Given the description of an element on the screen output the (x, y) to click on. 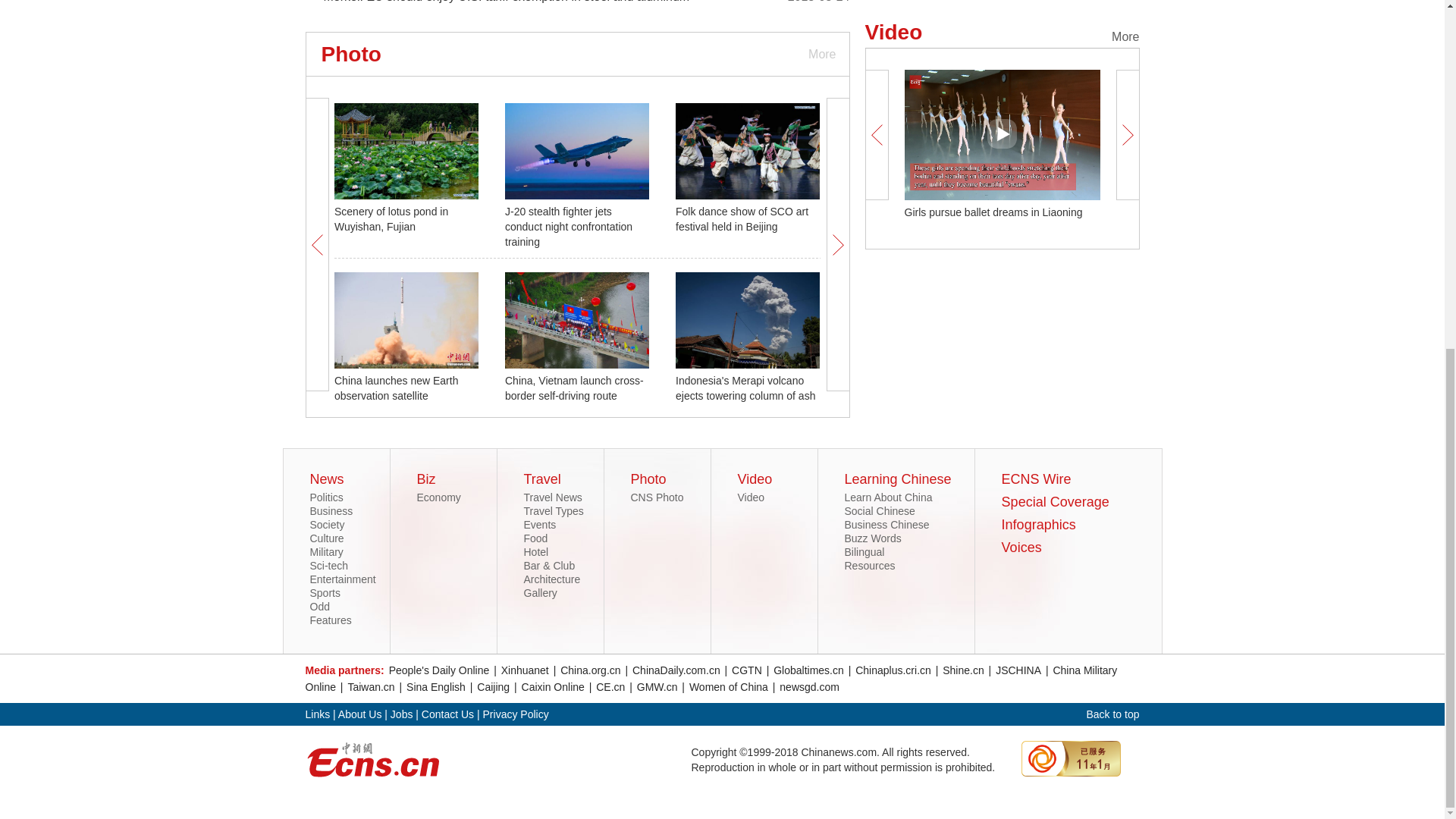
China, Vietnam launch cross-border self-driving route (574, 388)
Scenery of lotus pond in Wuyishan, Fujian (391, 218)
Folk dance show of SCO art festival held in Beijing (741, 218)
China launches new Earth observation satellite (396, 388)
